Given the description of an element on the screen output the (x, y) to click on. 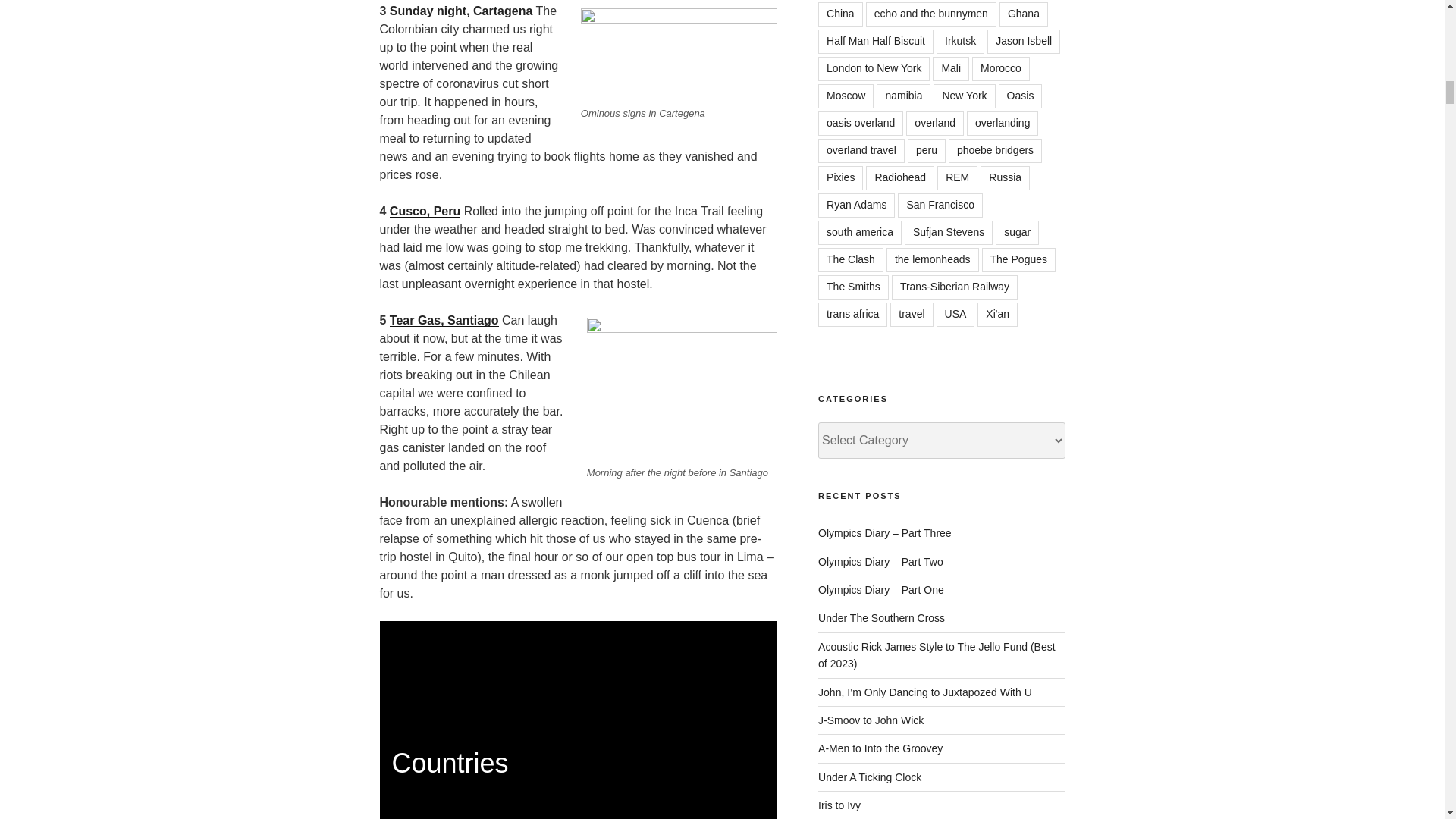
Sunday night, Cartagena (461, 10)
Tear Gas, Santiago (444, 319)
Cusco, Peru (425, 210)
